Given the description of an element on the screen output the (x, y) to click on. 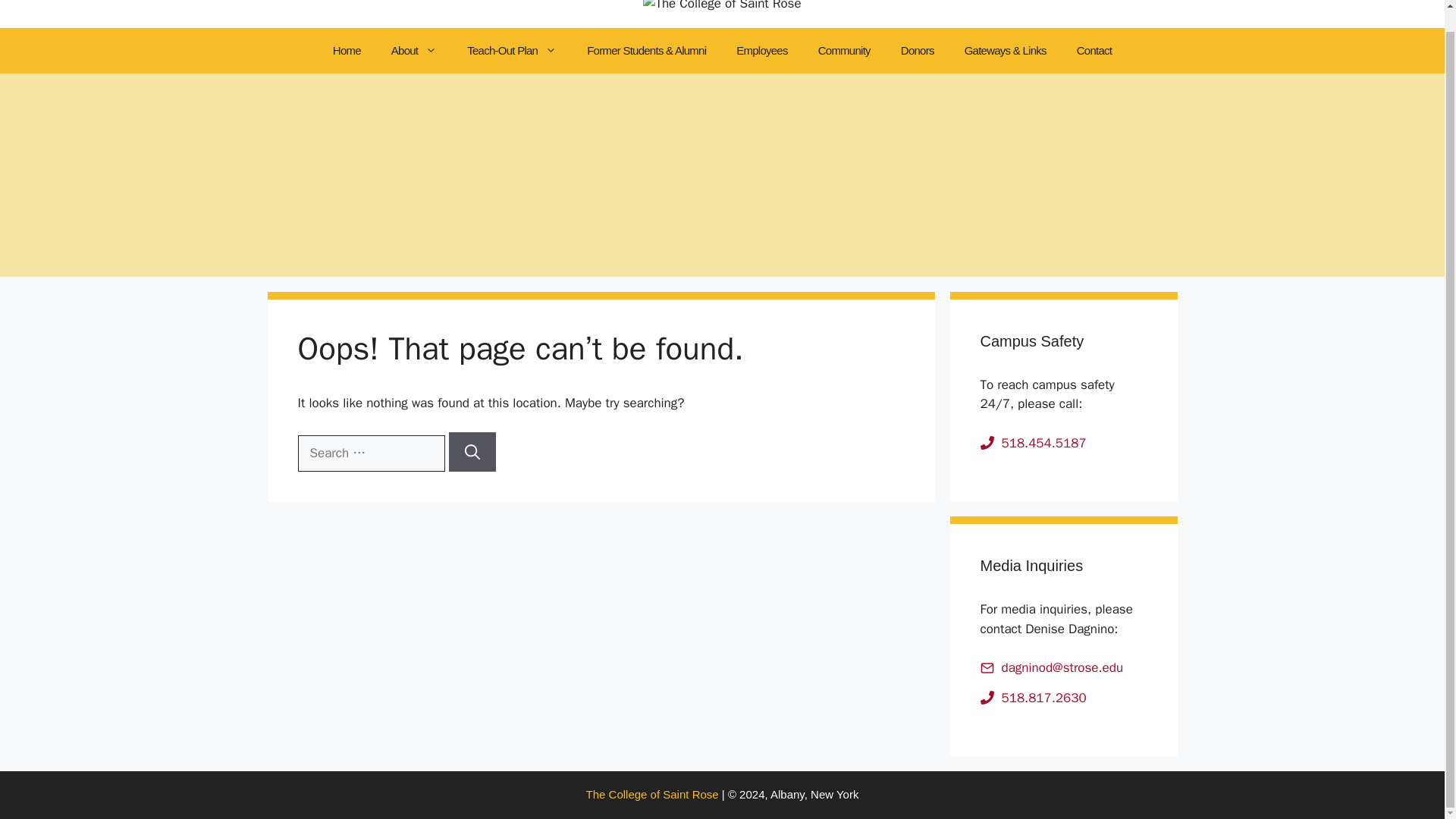
Community (844, 50)
Donors (917, 50)
518.817.2630 (1043, 697)
Home (346, 50)
Teach-Out Plan (511, 50)
518.454.5187 (1043, 442)
Search for: (370, 452)
Contact (1093, 50)
The College of Saint Rose (652, 793)
Employees (761, 50)
